Given the description of an element on the screen output the (x, y) to click on. 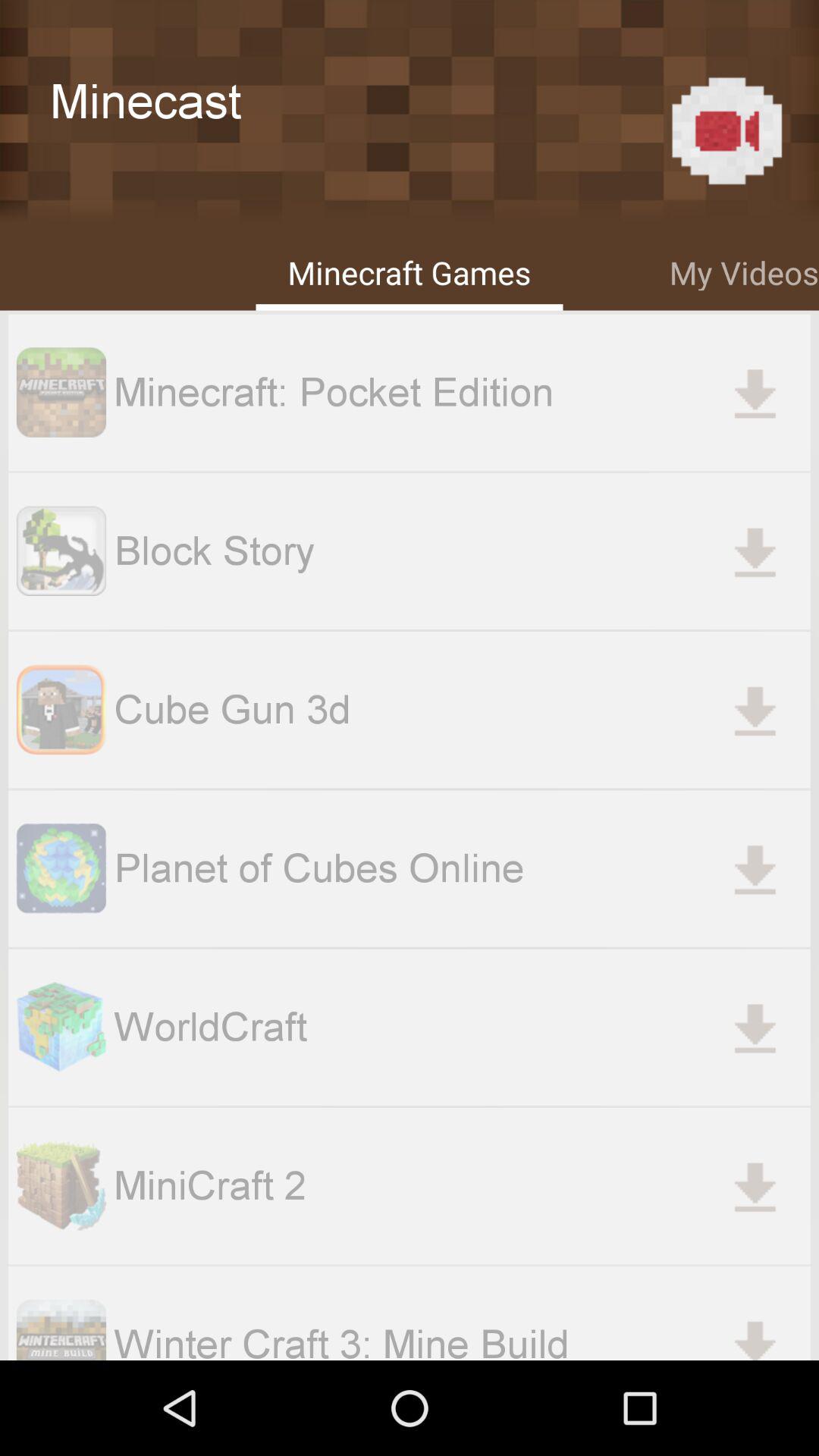
press item next to minecast icon (726, 130)
